Given the description of an element on the screen output the (x, y) to click on. 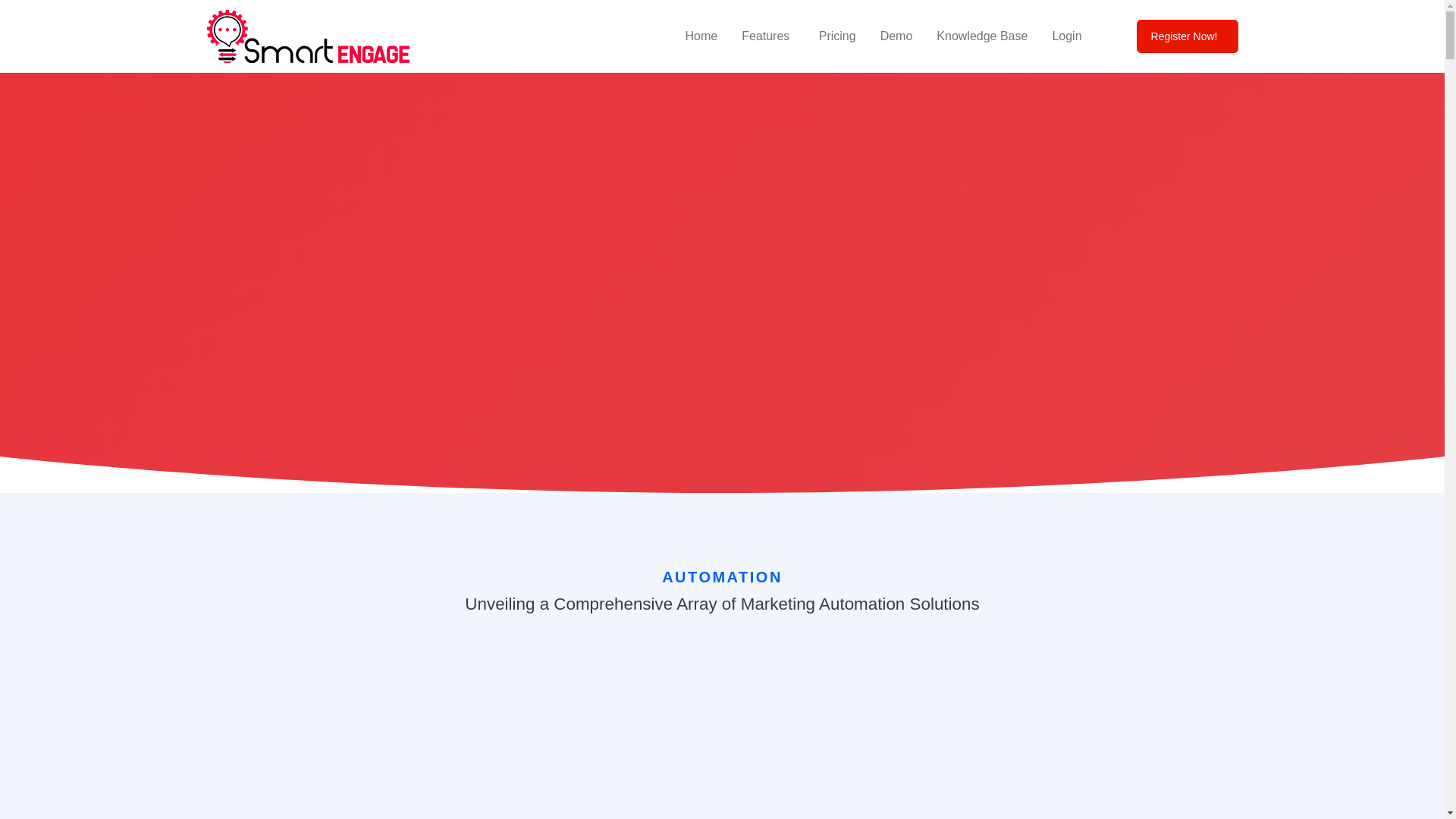
Pricing (836, 36)
Home (701, 36)
Knowledge Base (981, 36)
Features (767, 36)
Demo (896, 36)
Register Now! (1188, 36)
Login (1066, 36)
